Given the description of an element on the screen output the (x, y) to click on. 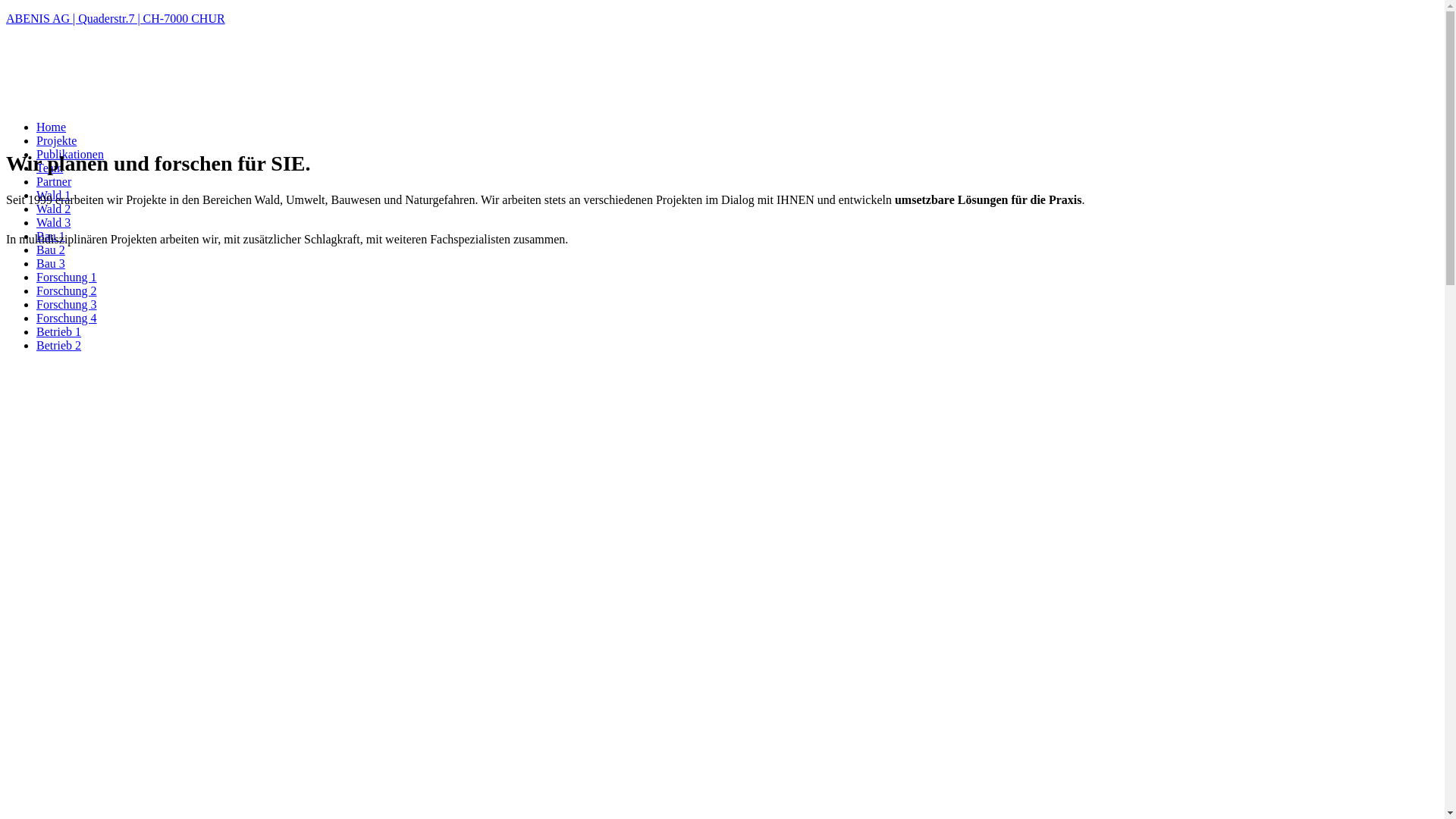
Publikationen Element type: text (69, 153)
Projekte Element type: text (56, 140)
Bau 3 Element type: text (50, 263)
Forschung 2 Element type: text (66, 290)
Team Element type: text (49, 167)
Partner Element type: text (53, 181)
Forschung 4 Element type: text (66, 317)
Betrieb 1 Element type: text (58, 331)
Wald 2 Element type: text (53, 208)
Wald 1 Element type: text (53, 194)
Bau 1 Element type: text (50, 235)
Forschung 1 Element type: text (66, 276)
Wald 3 Element type: text (53, 222)
Forschung 3 Element type: text (66, 304)
Betrieb 2 Element type: text (58, 344)
Bau 2 Element type: text (50, 249)
Home Element type: text (50, 126)
ABENIS AG | Quaderstr.7 | CH-7000 CHUR Element type: text (722, 18)
